Given the description of an element on the screen output the (x, y) to click on. 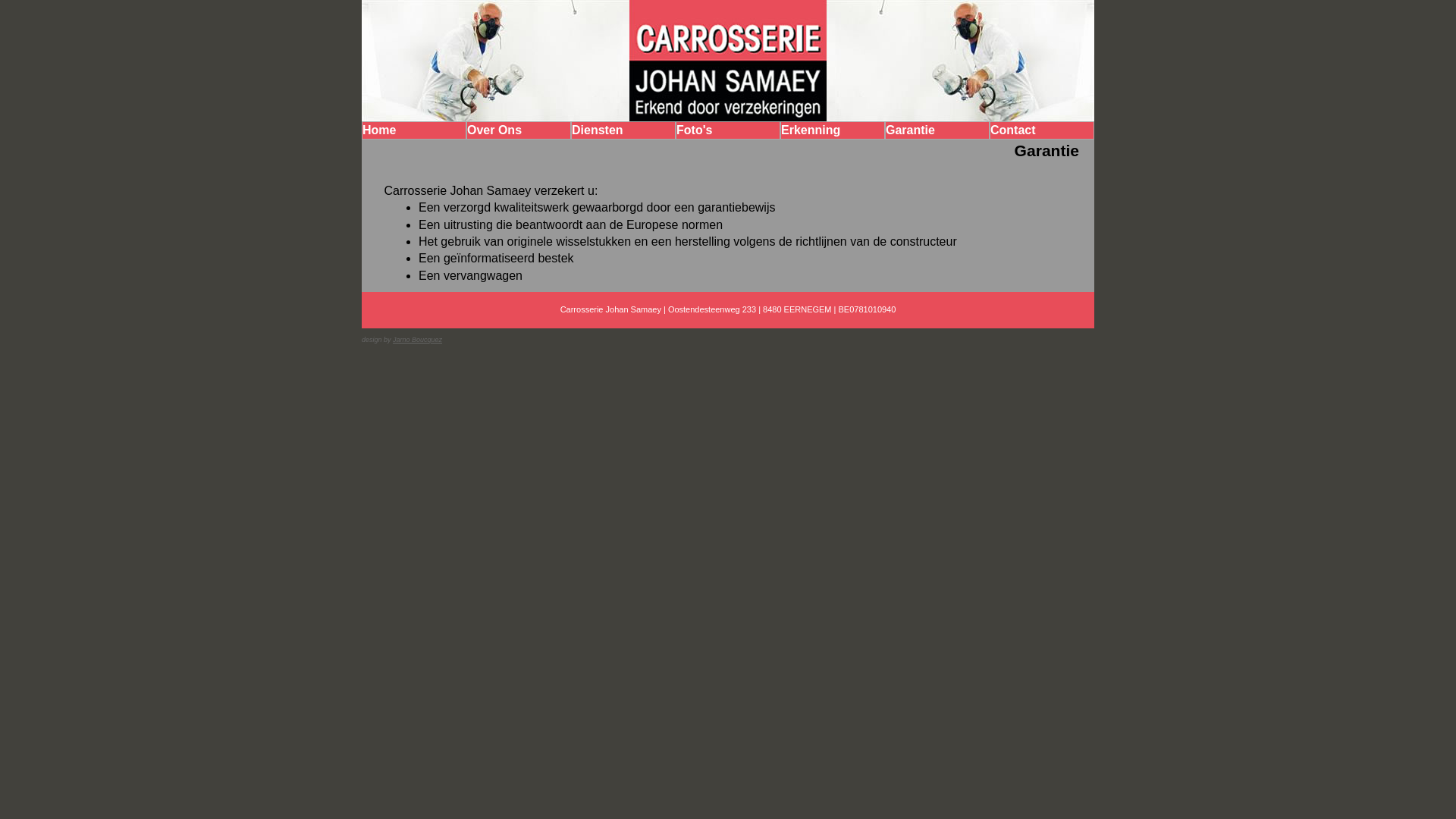
Home Element type: text (413, 130)
Over Ons Element type: text (518, 130)
Erkenning Element type: text (832, 130)
Foto's Element type: text (727, 130)
Garantie Element type: text (936, 130)
Diensten Element type: text (623, 130)
Jarno Boucquez Element type: text (417, 339)
Contact Element type: text (1041, 130)
